Given the description of an element on the screen output the (x, y) to click on. 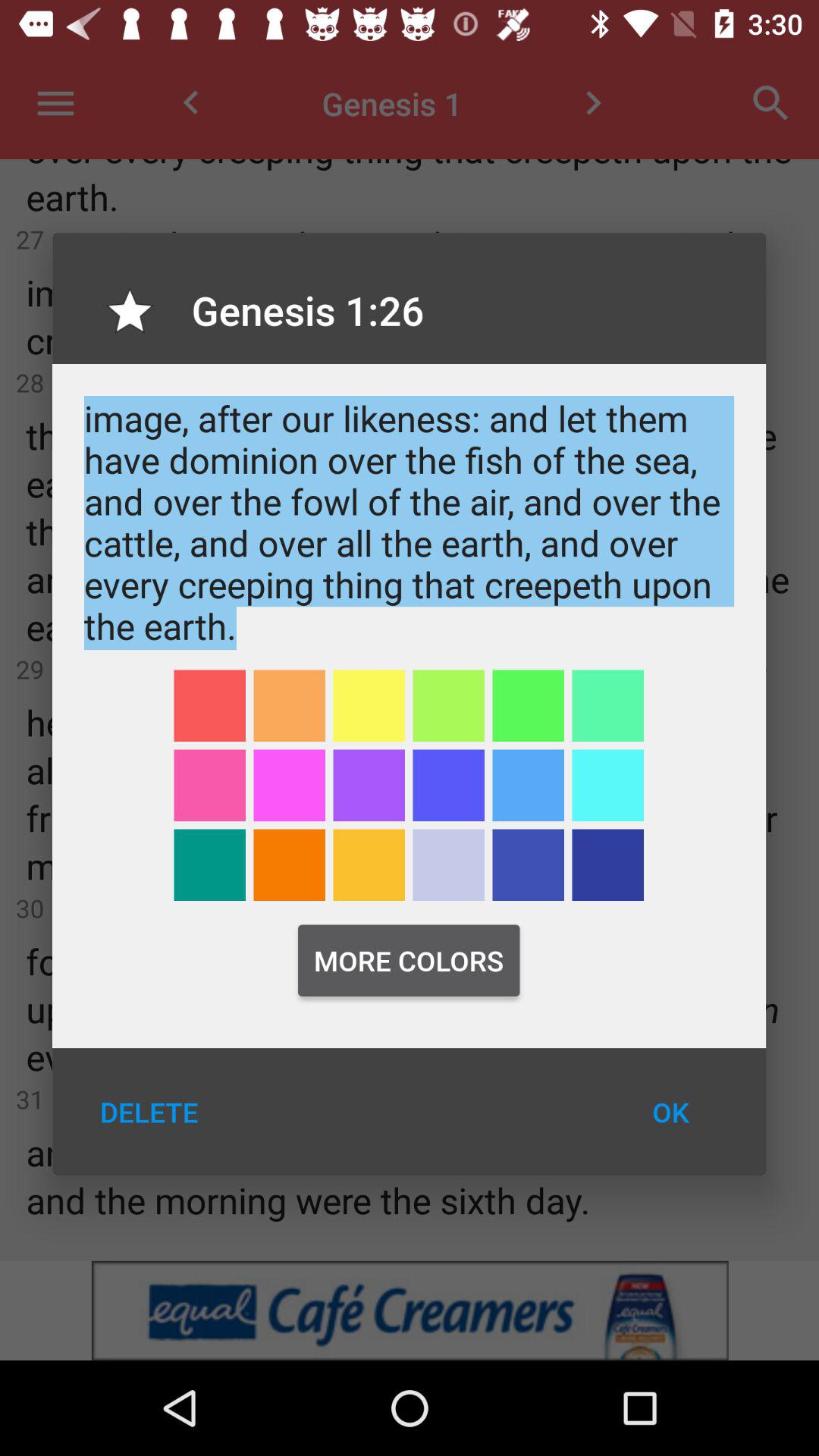
colour box (607, 864)
